Given the description of an element on the screen output the (x, y) to click on. 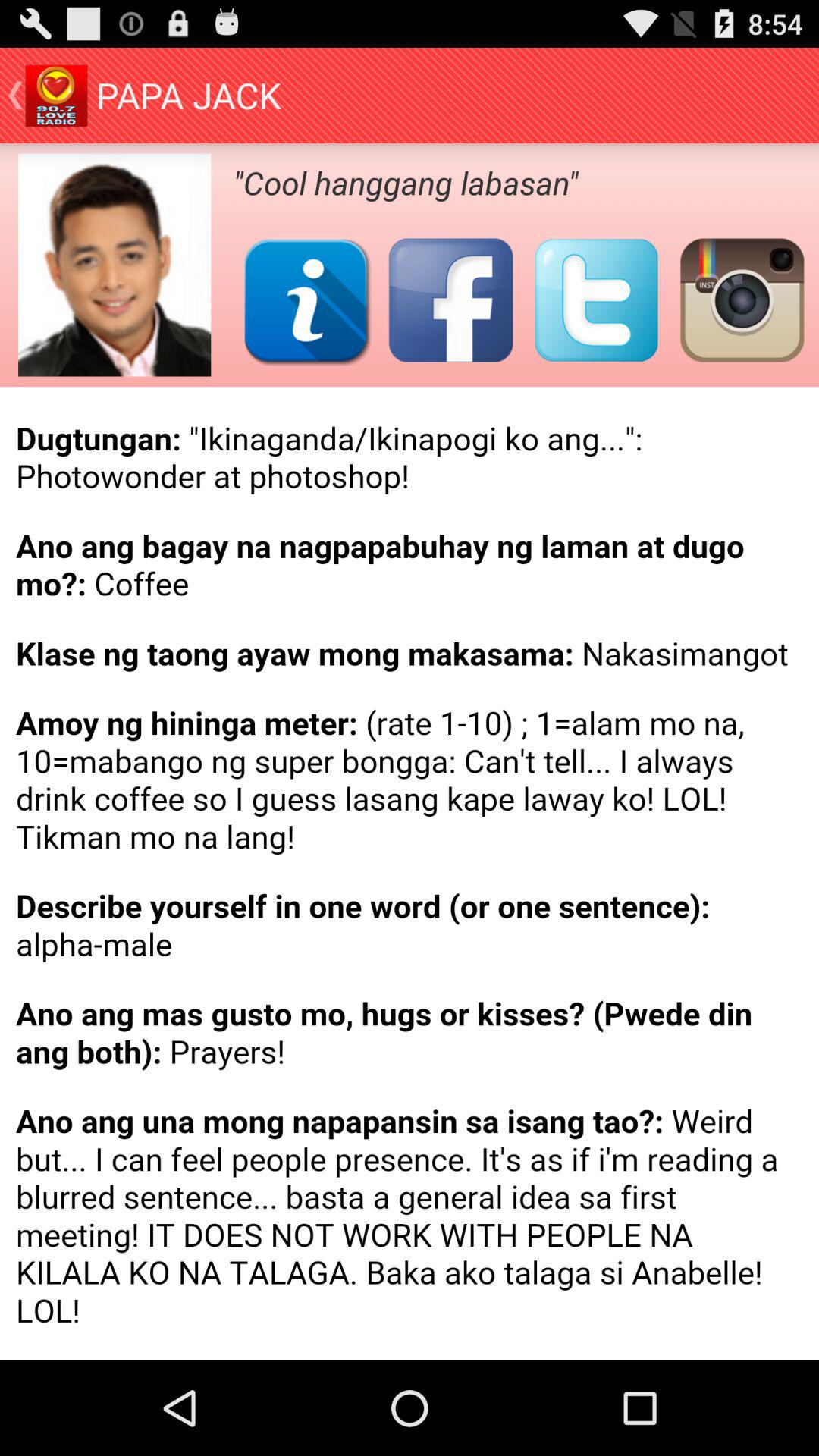
go to facebook option (450, 299)
